Given the description of an element on the screen output the (x, y) to click on. 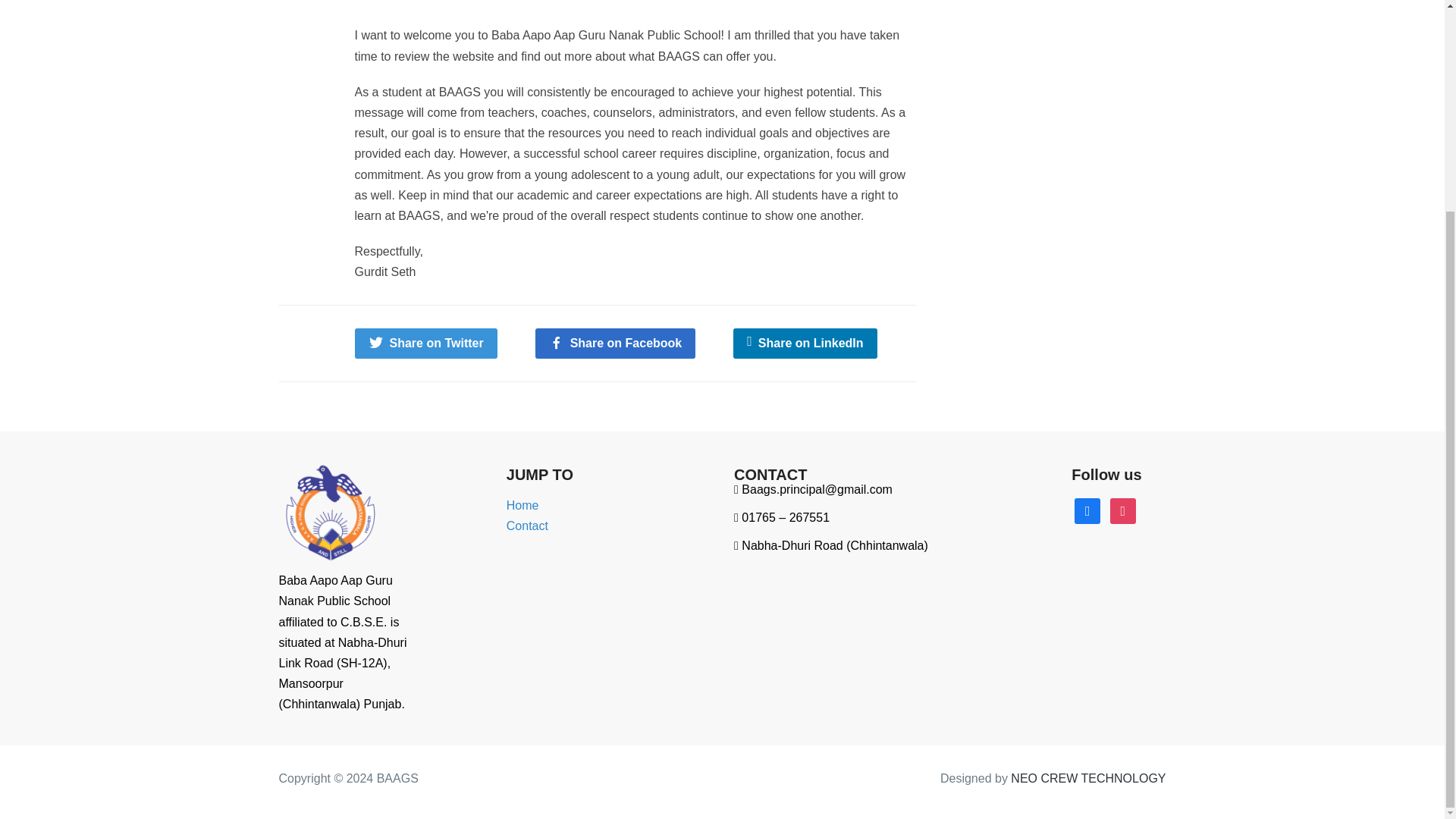
Tweet this on Twitter (426, 342)
Instagram (1122, 509)
Facebook (1087, 509)
Share on LinkedIn (804, 342)
Share this on Facebook (615, 342)
